Given the description of an element on the screen output the (x, y) to click on. 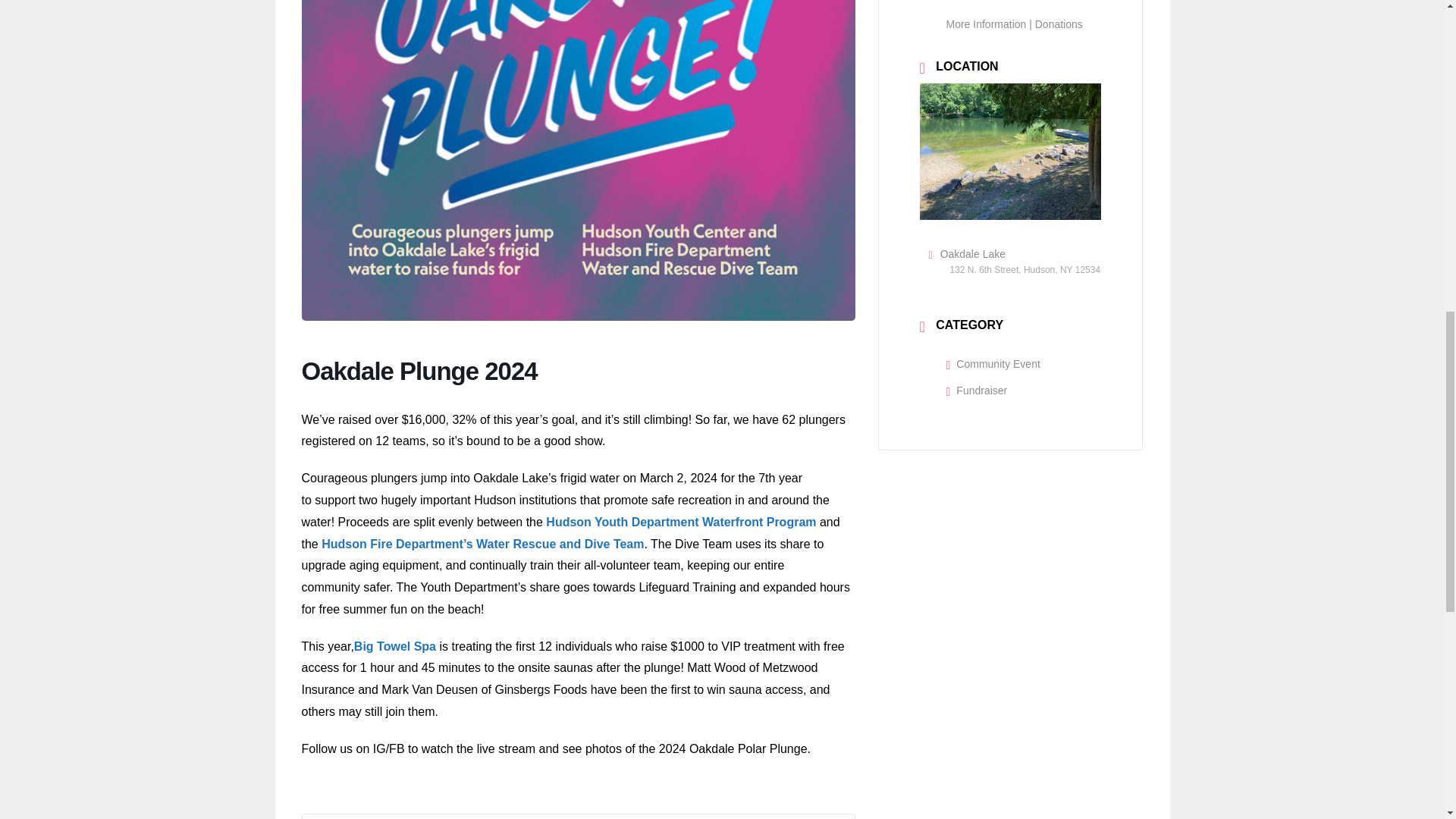
Big Towel Spa (394, 645)
Hudson Youth Department Waterfront Program (680, 521)
Community Event (993, 363)
Fundraiser (976, 390)
